Given the description of an element on the screen output the (x, y) to click on. 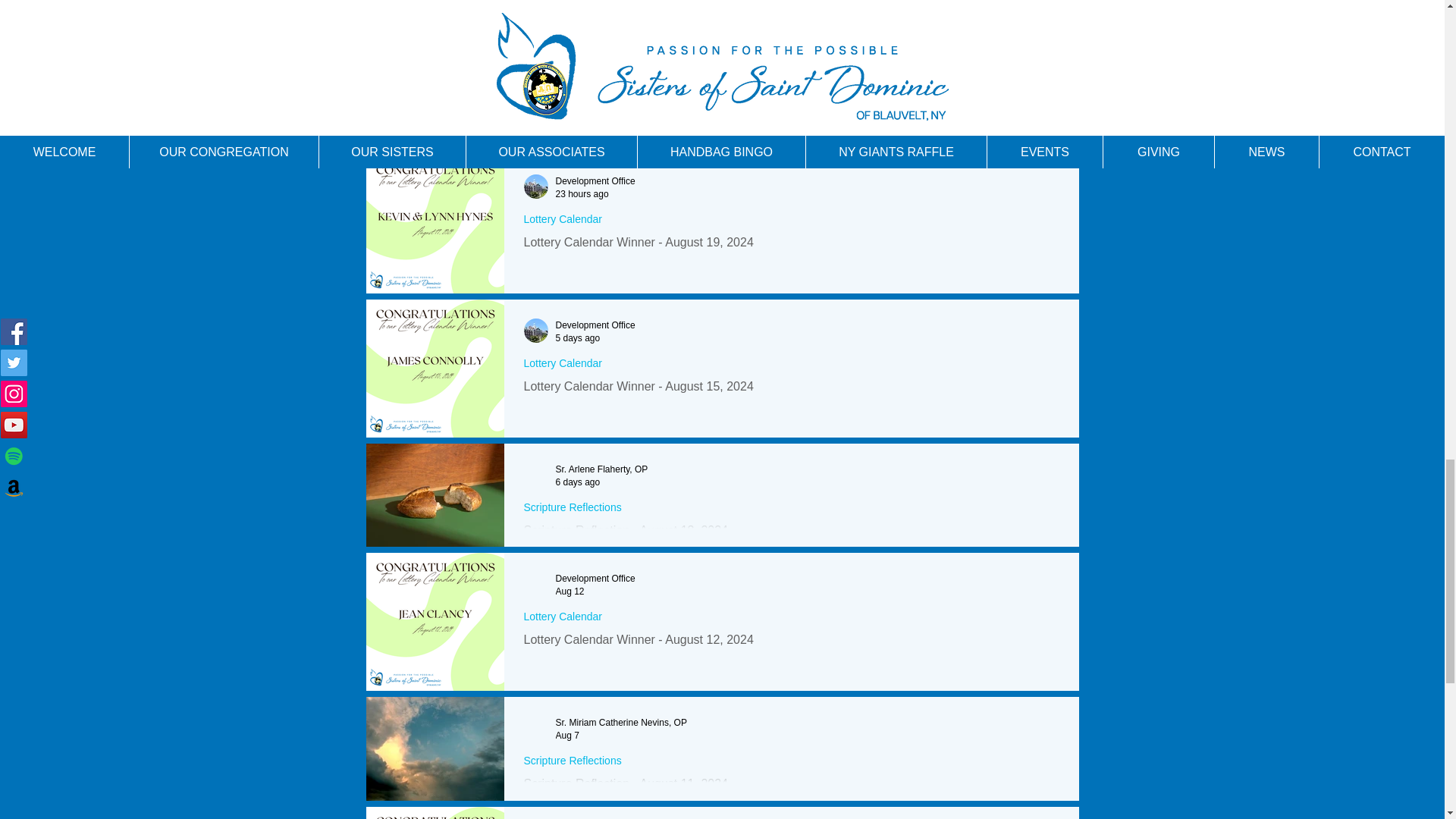
Sr. Miriam Catherine Nevins, OP (619, 722)
5 days ago (576, 337)
Aug 7 (566, 734)
Sr. Arlene Flaherty, OP (600, 469)
Development Office (594, 325)
Aug 12 (568, 590)
23 hours ago (581, 193)
6 days ago (576, 480)
Development Office (594, 578)
Development Office (594, 181)
